Given the description of an element on the screen output the (x, y) to click on. 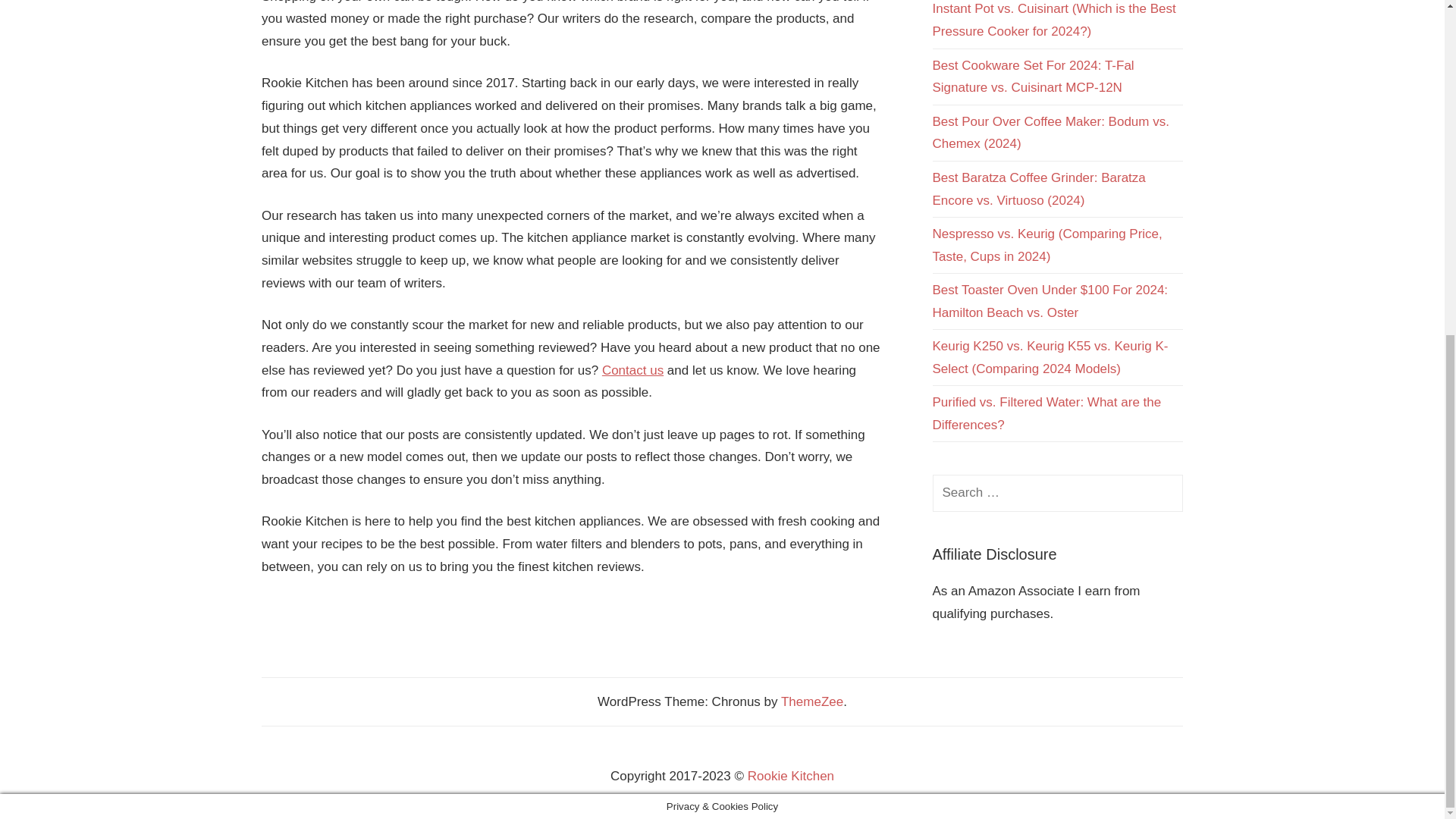
ThemeZee (811, 701)
Purified vs. Filtered Water: What are the Differences? (1047, 413)
Search for: (1058, 493)
Rookie Kitchen (791, 775)
Contact us (632, 370)
